Given the description of an element on the screen output the (x, y) to click on. 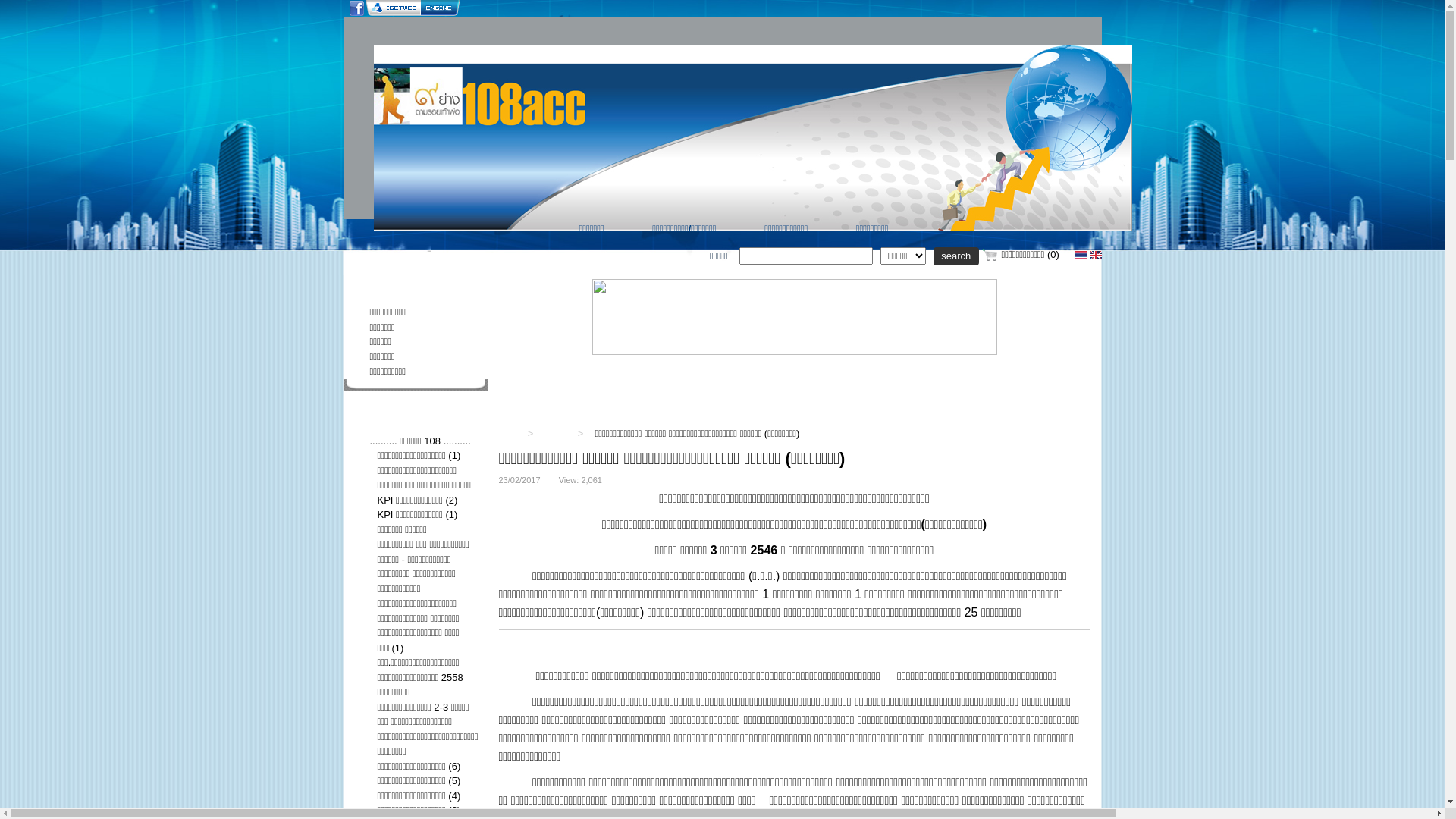
search Element type: text (956, 256)
Facebook Element type: hover (356, 6)
